Given the description of an element on the screen output the (x, y) to click on. 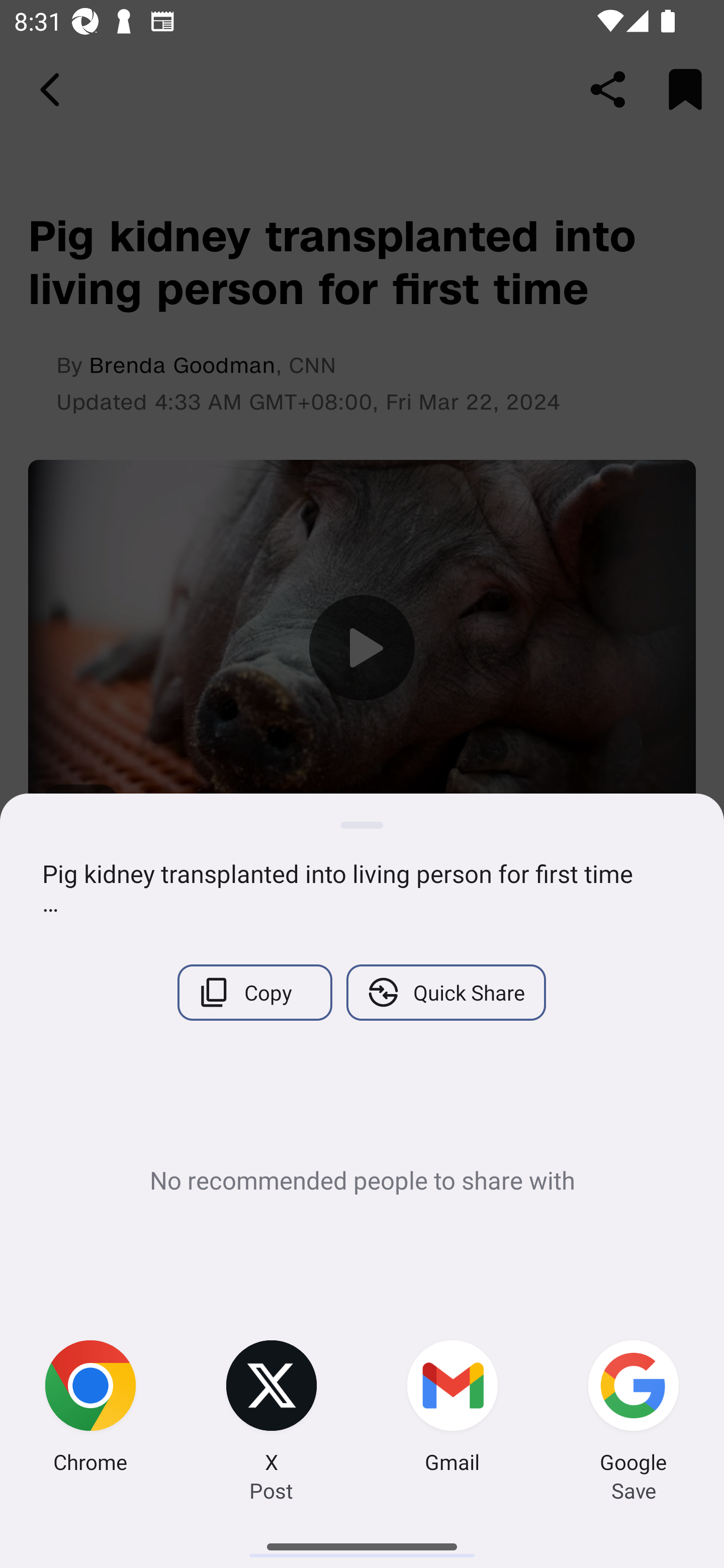
Copy (254, 992)
Quick Share (445, 992)
Chrome (90, 1409)
X Post (271, 1409)
Gmail (452, 1409)
Google Save (633, 1409)
